Given the description of an element on the screen output the (x, y) to click on. 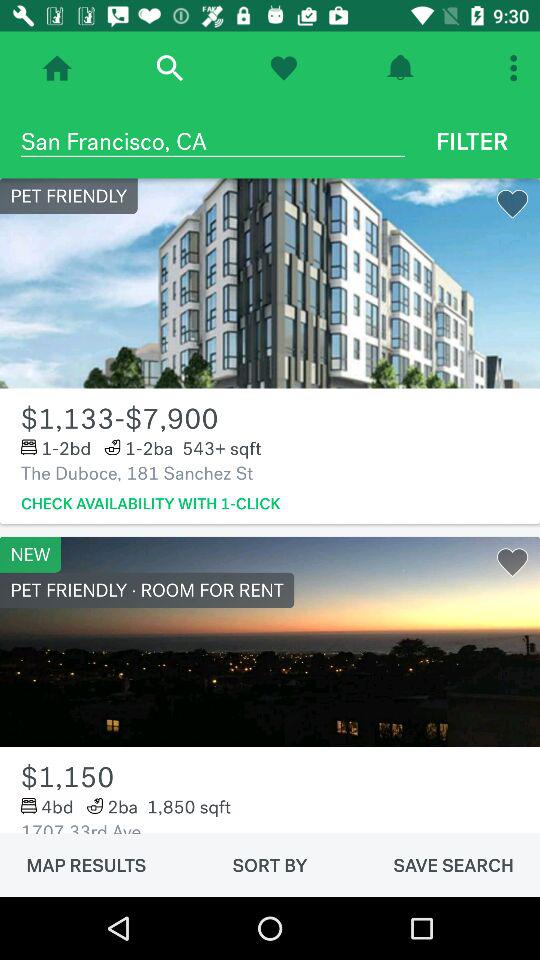
search option (169, 68)
